Given the description of an element on the screen output the (x, y) to click on. 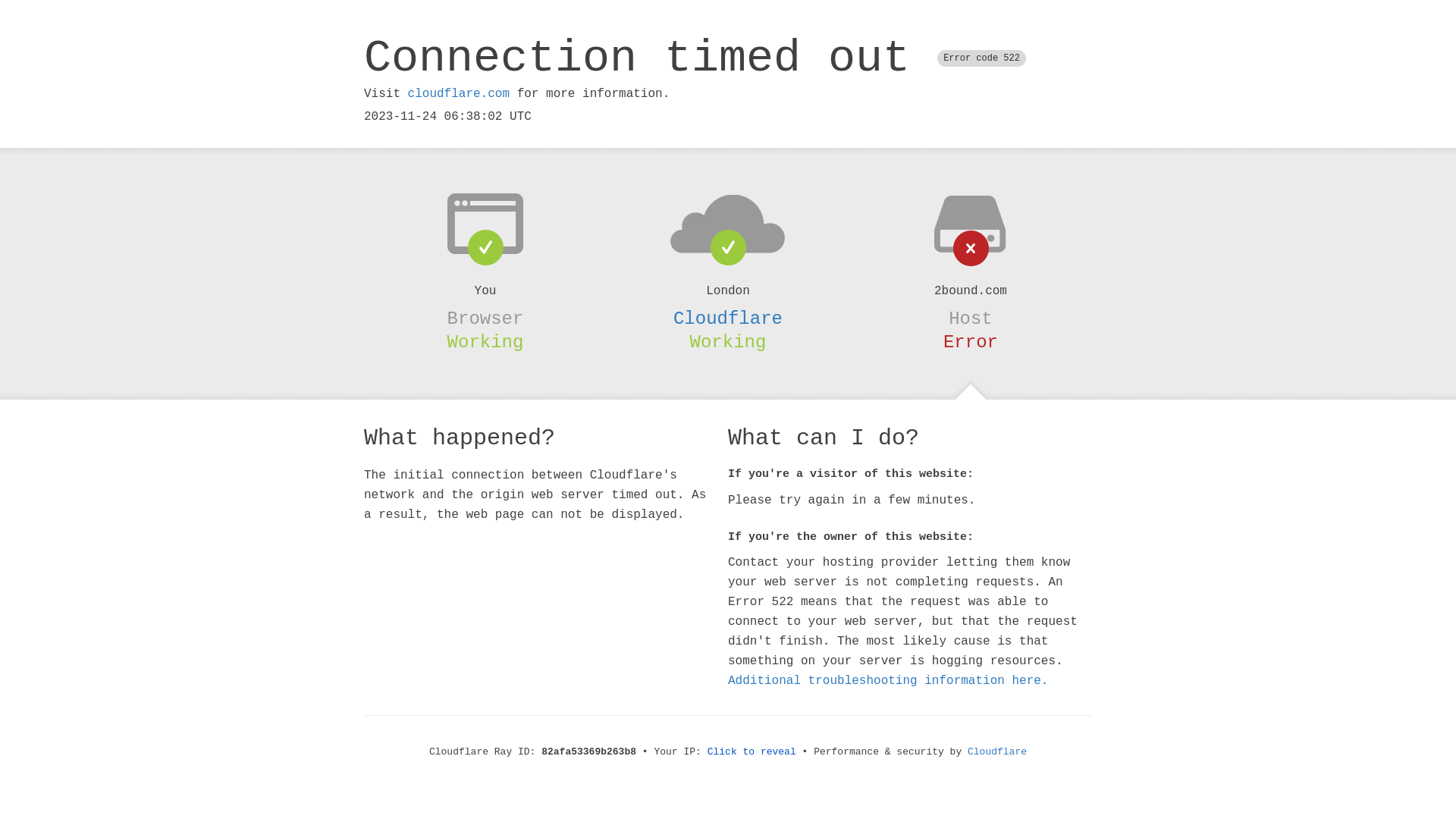
Click to reveal Element type: text (751, 751)
Additional troubleshooting information here. Element type: text (888, 680)
cloudflare.com Element type: text (458, 93)
Cloudflare Element type: text (727, 318)
Cloudflare Element type: text (996, 751)
